Given the description of an element on the screen output the (x, y) to click on. 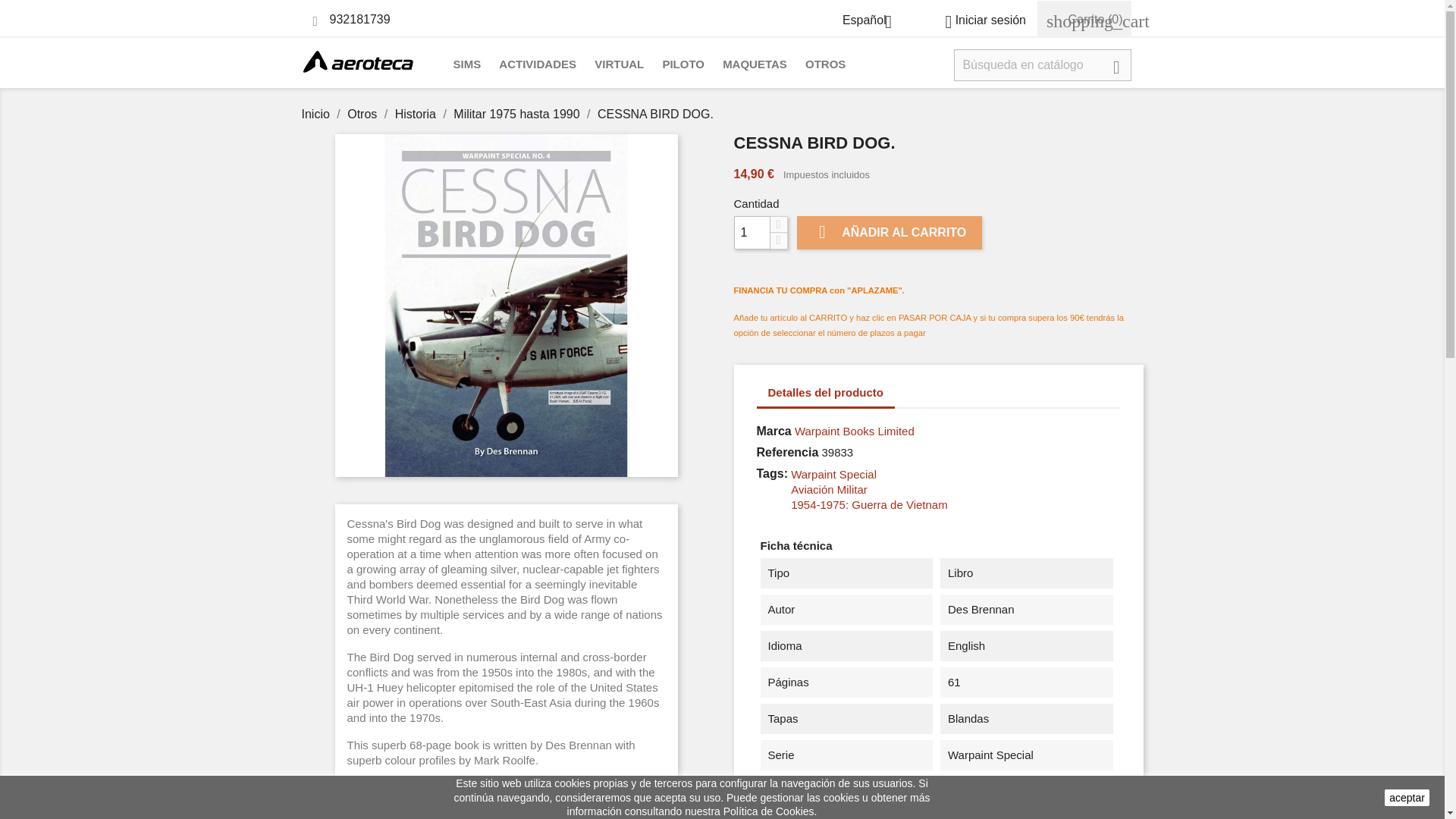
Acceda a su cuenta de cliente (979, 19)
PILOTO (682, 65)
SIMS (467, 65)
VIRTUAL (618, 65)
1 (751, 232)
932181739 (360, 19)
ACTIVIDADES (537, 65)
